Given the description of an element on the screen output the (x, y) to click on. 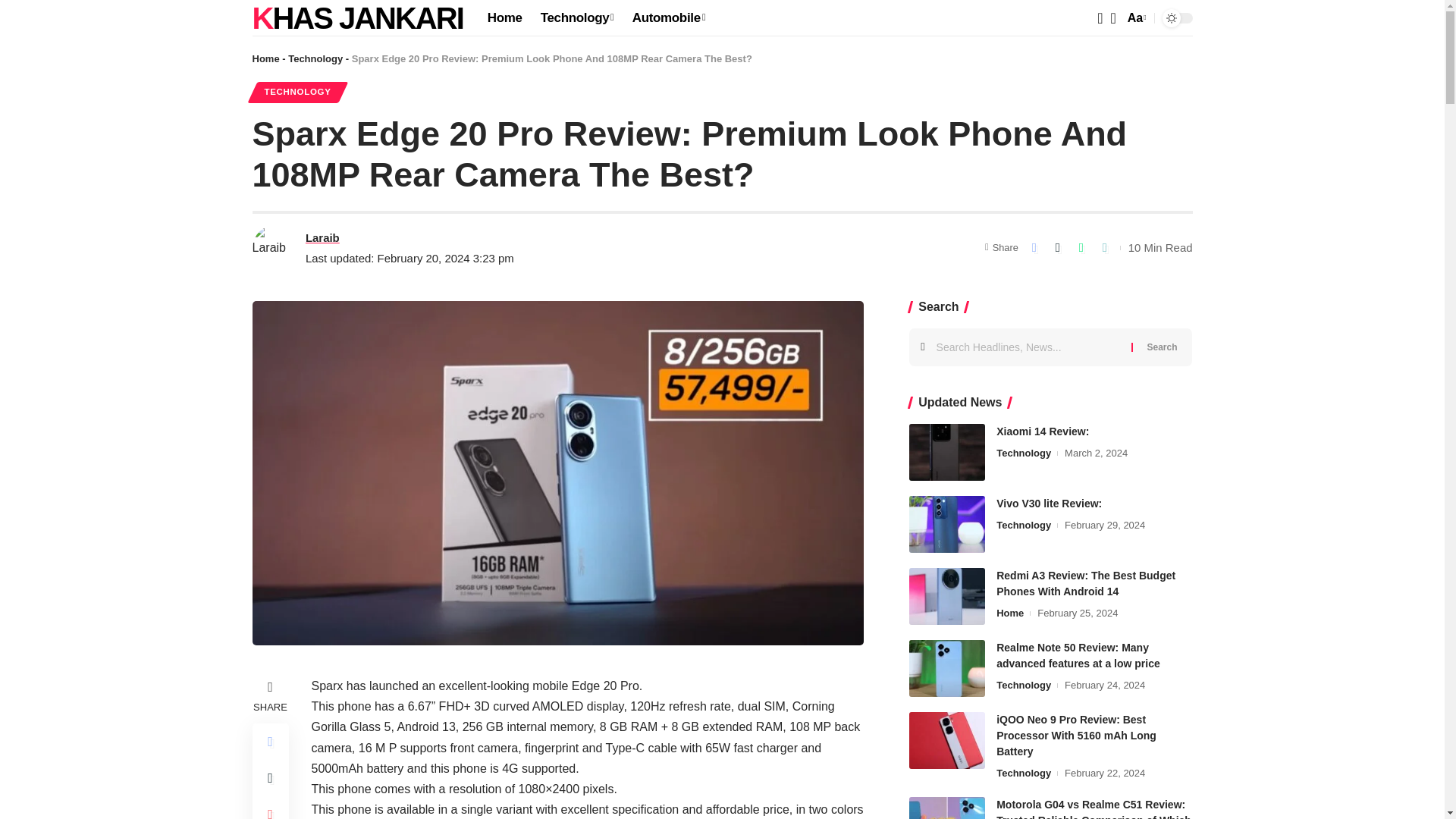
Redmi A3 Review: The Best Budget Phones With Android 14 (946, 596)
Xiaomi 14 Review: (946, 452)
Realme Note 50 Review: Many advanced features at a low price (946, 667)
Vivo V30 lite Review: (946, 524)
Search (1135, 17)
Automobile (1161, 347)
Home (668, 18)
Technology (505, 18)
Khas Jankari (315, 58)
KHAS JANKARI (357, 18)
Laraib (357, 18)
TECHNOLOGY (322, 237)
Technology (296, 92)
